Given the description of an element on the screen output the (x, y) to click on. 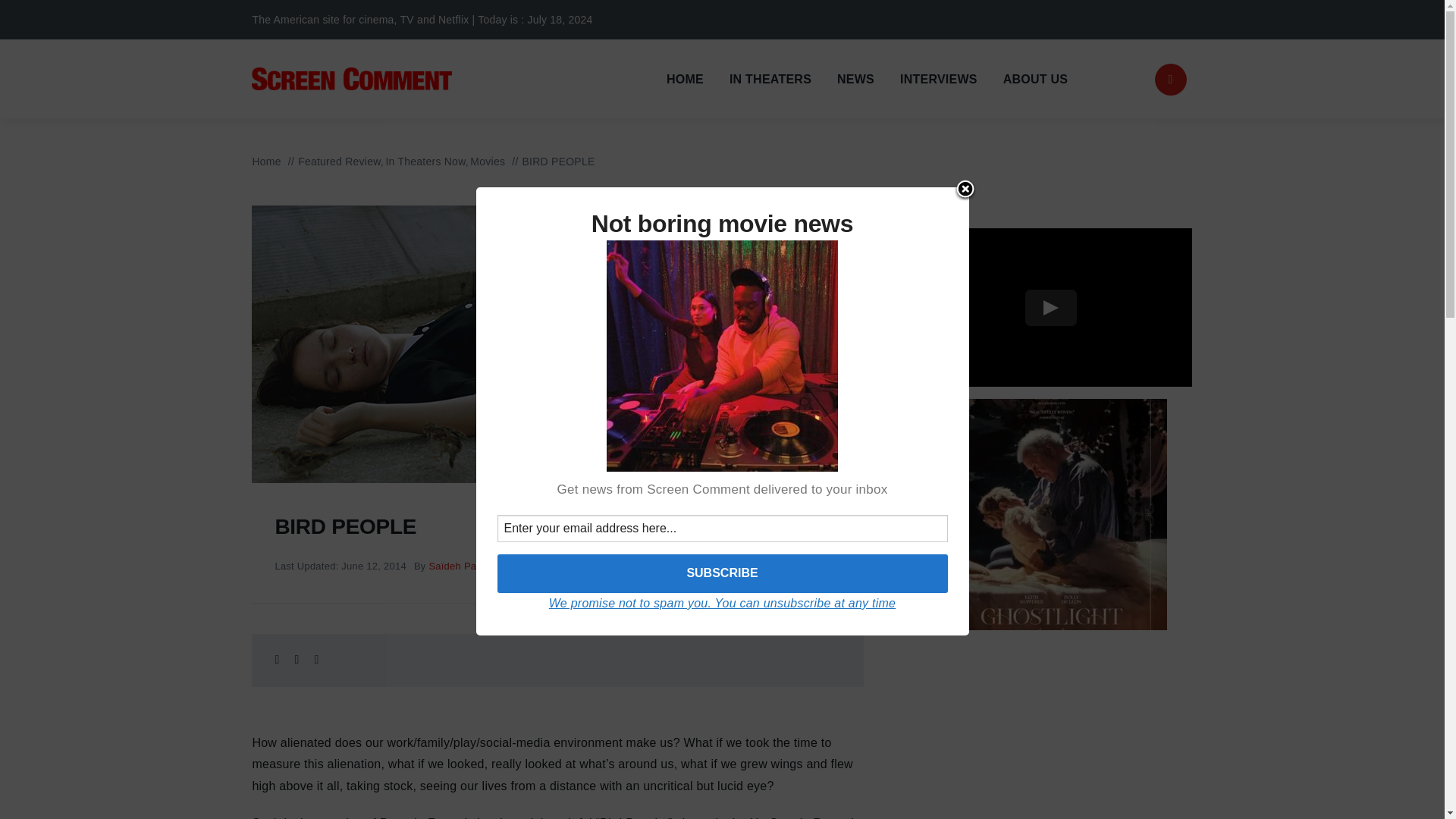
Bird People (654, 565)
In Theaters Now (424, 161)
INTERVIEWS (937, 78)
Subscribe (722, 573)
Play (1051, 307)
Roschdy Zem (793, 565)
Close (964, 190)
Take Action Now! (243, 19)
Subscribe (722, 573)
Home (266, 161)
YouTube video player 1 (1051, 307)
IN THEATERS (769, 78)
Pascale Ferran (722, 565)
Movies (487, 161)
ABOUT US (1035, 78)
